Given the description of an element on the screen output the (x, y) to click on. 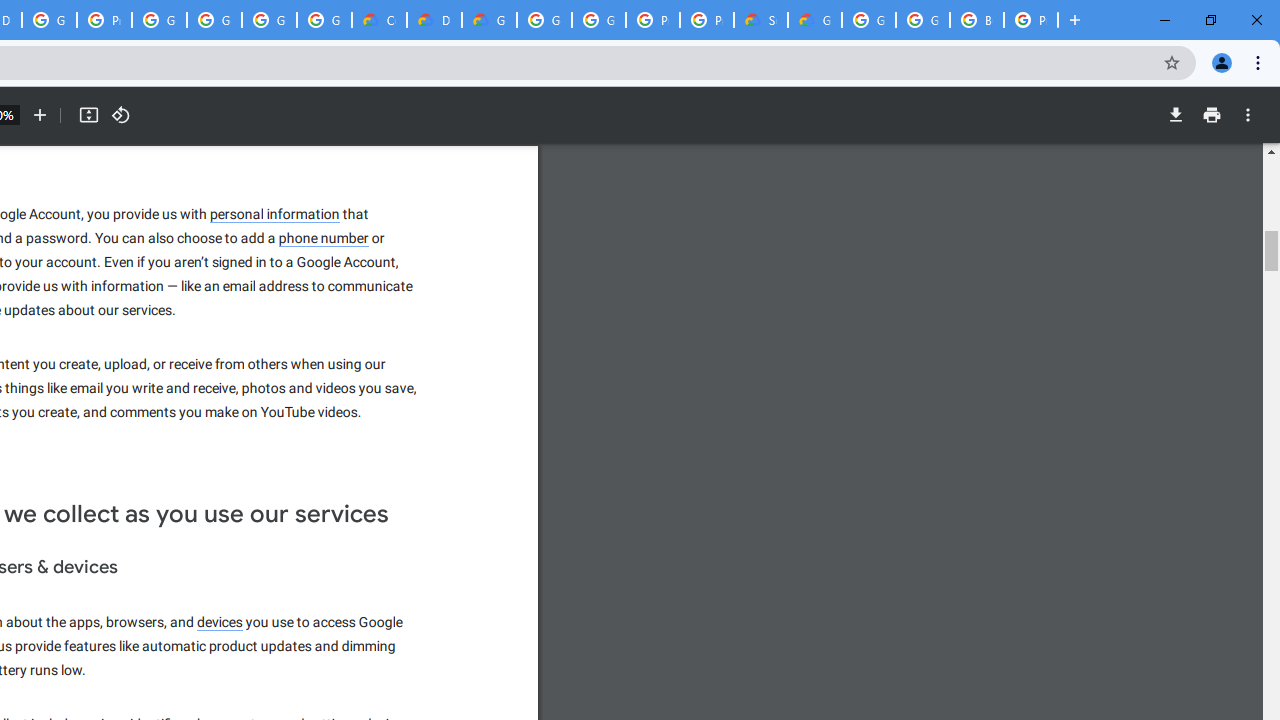
Gemini for Business and Developers | Google Cloud (489, 20)
Google Cloud Platform (922, 20)
Print (1211, 115)
Google Cloud Service Health (815, 20)
Rotate counterclockwise (119, 115)
Download (1175, 115)
phone number (324, 238)
More actions (1247, 115)
Google Cloud Platform (544, 20)
Fit to page (87, 115)
personal information (274, 214)
